Given the description of an element on the screen output the (x, y) to click on. 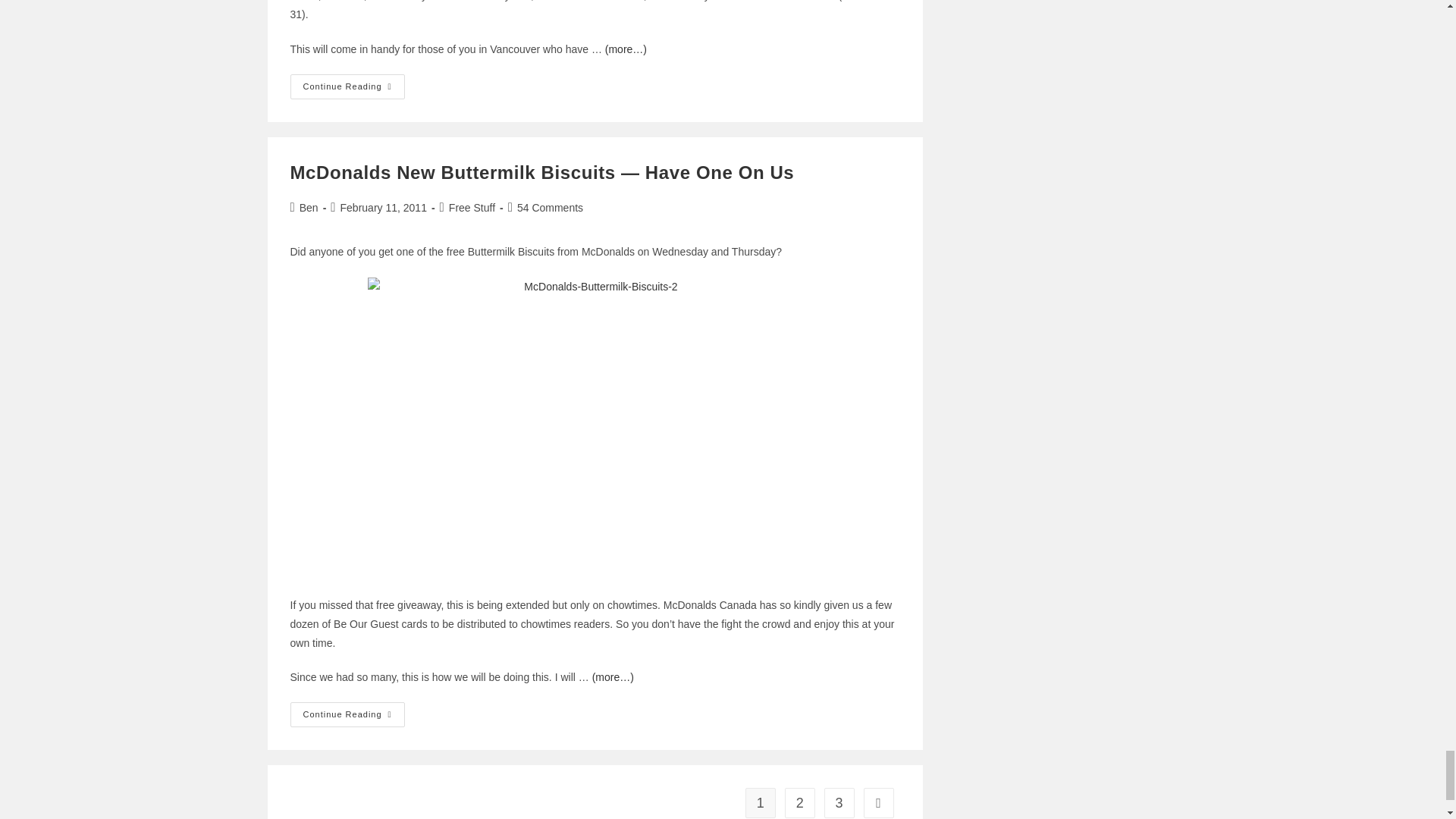
Posts by Ben (308, 207)
